Given the description of an element on the screen output the (x, y) to click on. 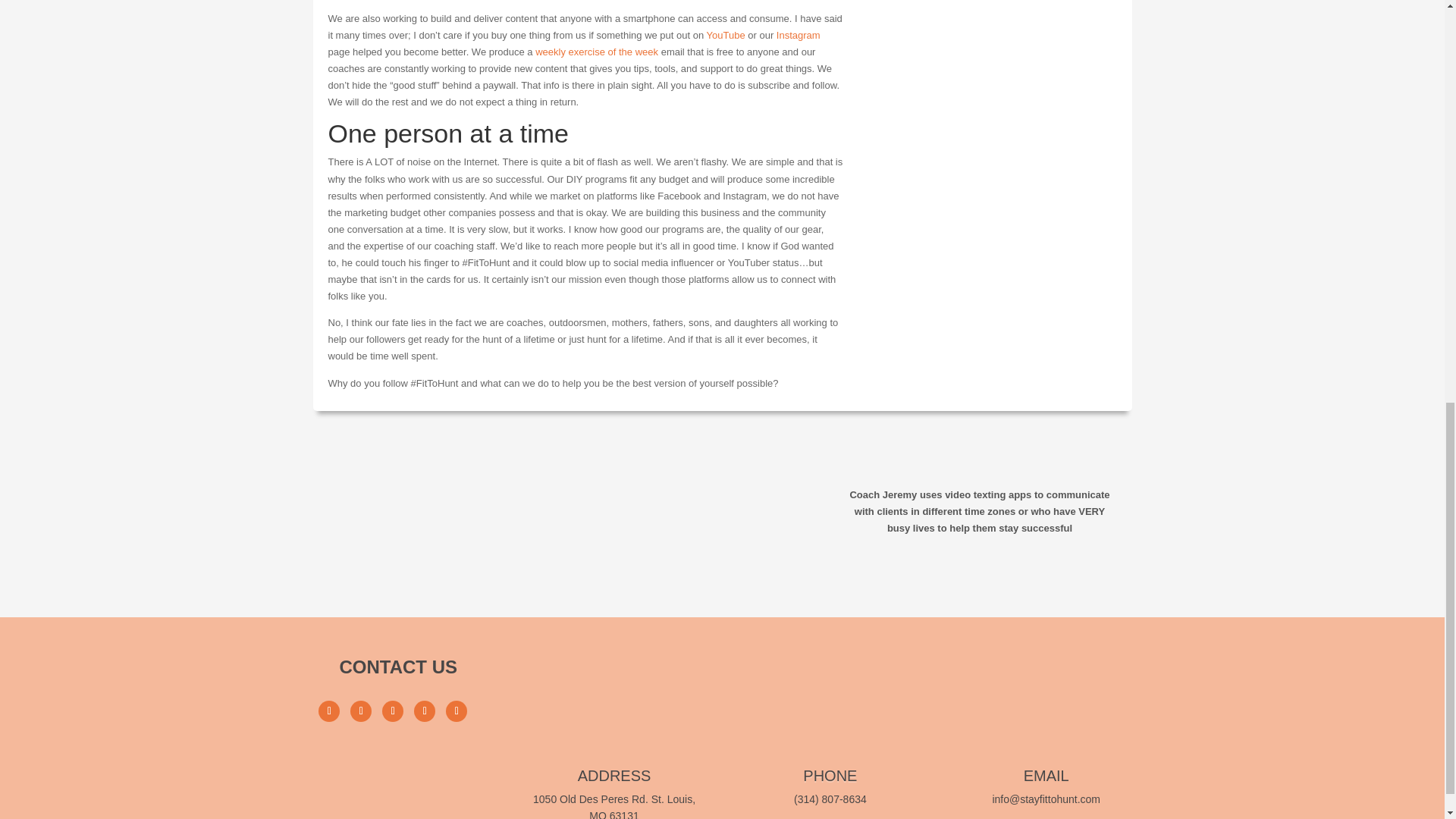
Follow on Instagram (360, 711)
1050 Old Des Peres Rd. St. Louis, MO 63131 (613, 806)
YouTube (725, 34)
Follow on Facebook (328, 711)
weekly exercise of the week (596, 51)
Follow on LinkedIn (456, 711)
Follow on X (392, 711)
Follow on Youtube (424, 711)
Instagram (798, 34)
